Given the description of an element on the screen output the (x, y) to click on. 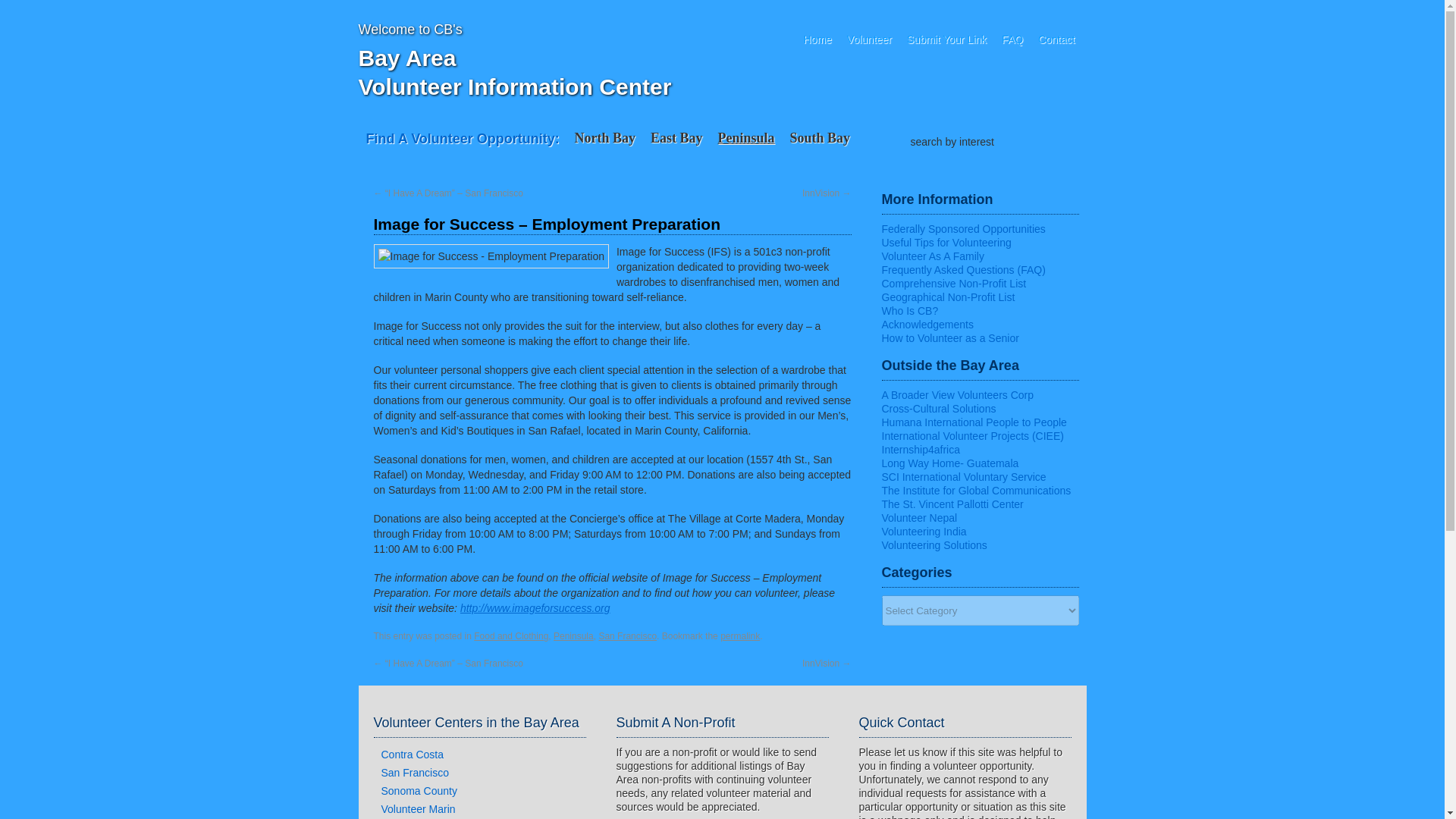
North Bay (605, 137)
Cross-Cultural Solutions (937, 408)
Geographical Non-Profit List (947, 297)
Who Is CB? (908, 310)
Peninsula (573, 635)
Volunteer Nepal (918, 517)
A Broader View Volunteers Corp (956, 395)
Food and Clothing (511, 635)
Submit Your Link (946, 39)
Federally Sponsored Opportunities (962, 228)
San Francisco (627, 635)
permalink (740, 635)
How to Volunteer as a Senior (948, 337)
Humana International People to People (972, 422)
Internship4africa (919, 449)
